Given the description of an element on the screen output the (x, y) to click on. 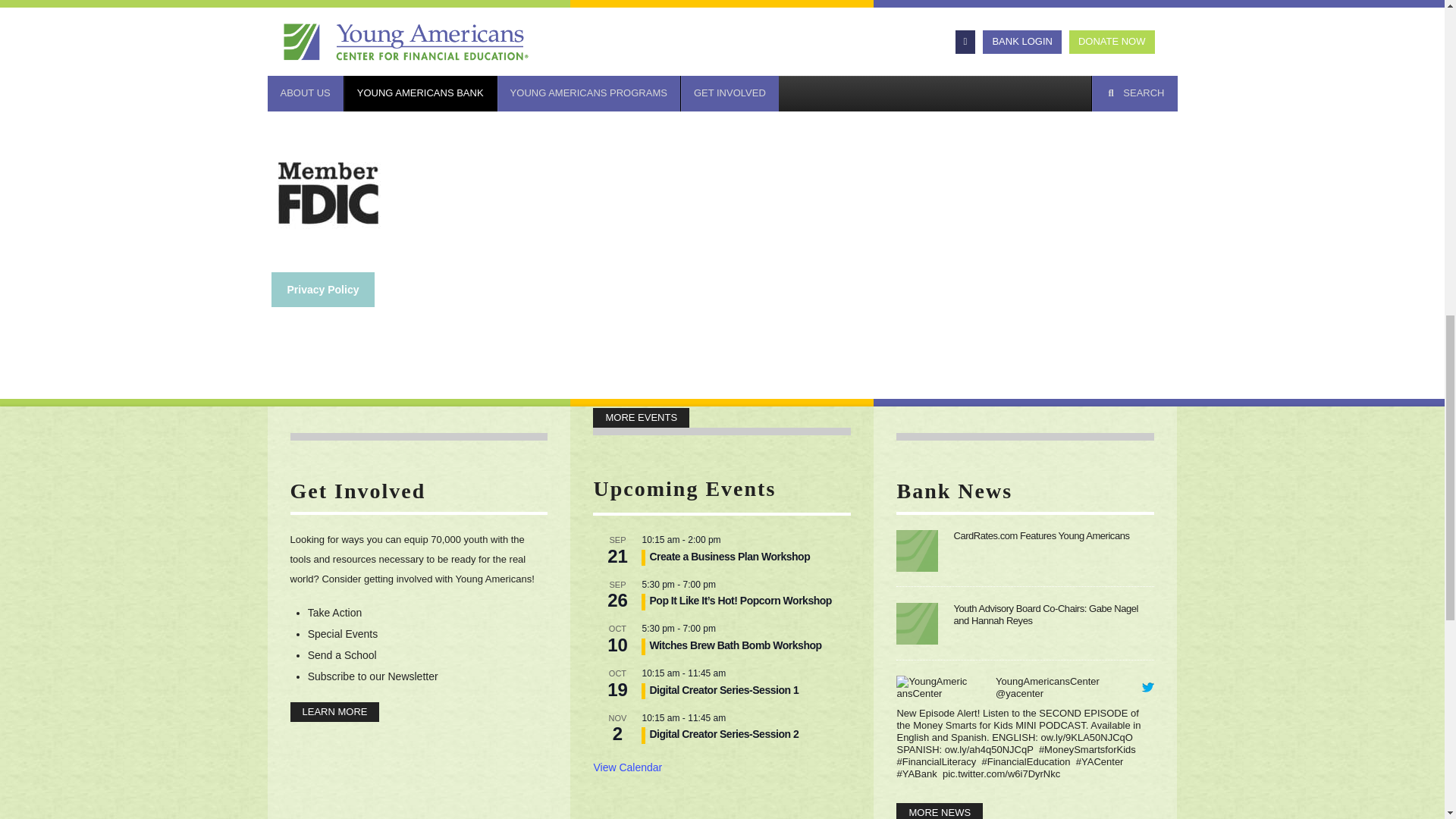
YoungAmericansCenter (1020, 693)
View more events. (627, 767)
FDIC (327, 188)
YoungAmericansCenter (943, 686)
YoungAmericansCenter (1048, 681)
Witches Brew Bath Bomb Workshop (735, 645)
Create a Business Plan Workshop (729, 556)
Digital Creator Series-Session 2 (723, 734)
Digital Creator Series-Session 1 (723, 689)
